Given the description of an element on the screen output the (x, y) to click on. 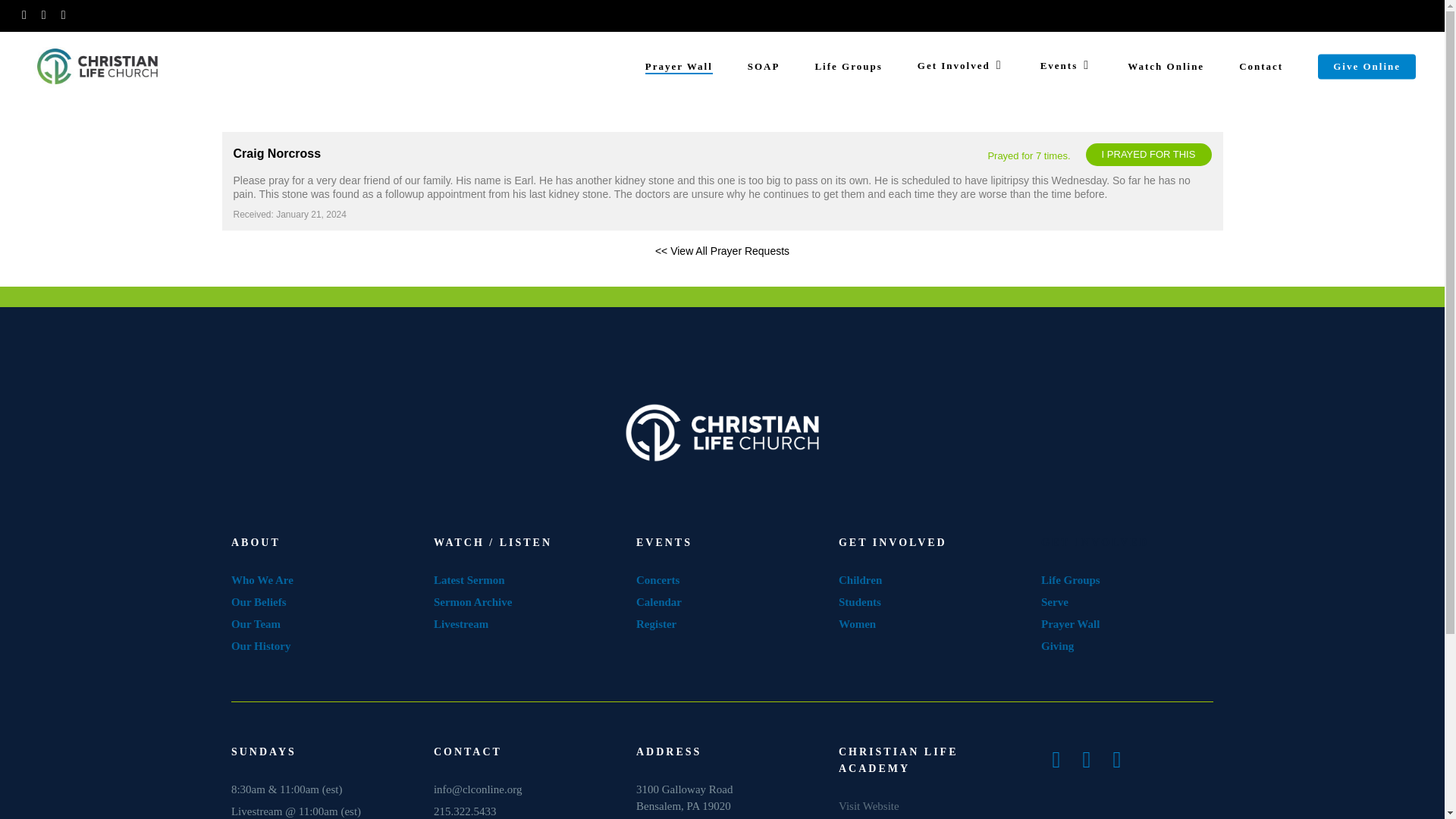
Sermon Archive (472, 602)
Contact (1260, 66)
I PRAYED FOR THIS (1148, 154)
SOAP (764, 66)
Livestream (460, 623)
Give Online (1366, 66)
Events (1067, 66)
Prayer Wall (679, 66)
Get Involved (961, 66)
Our History (260, 645)
Life Groups (1070, 580)
Register (656, 623)
Latest Sermon (469, 580)
Watch Online (1165, 66)
Women  (858, 623)
